Given the description of an element on the screen output the (x, y) to click on. 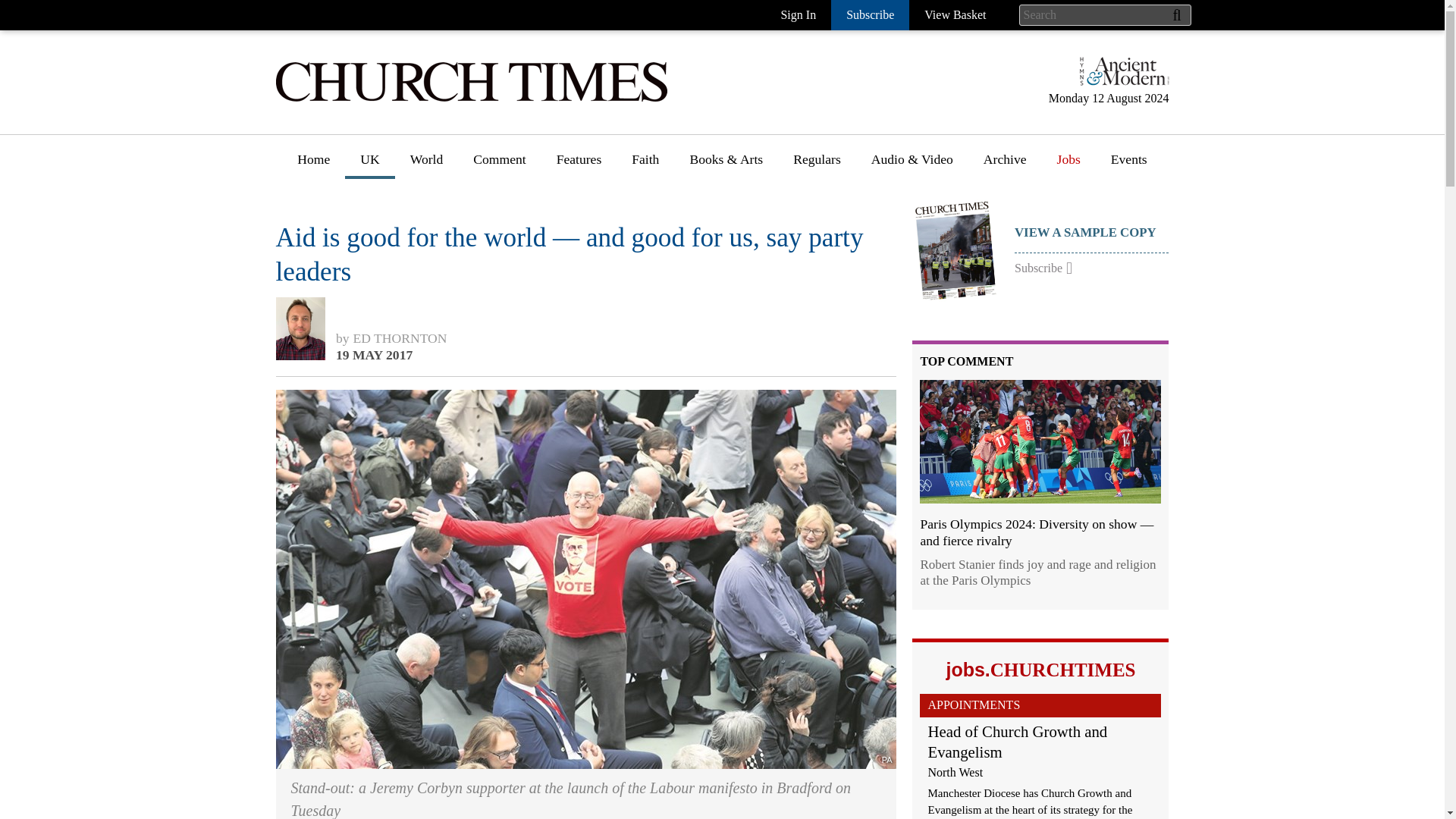
Interviews (585, 232)
Features (580, 204)
Visual arts (718, 287)
Radio (705, 428)
Performing arts (731, 343)
Regulars (816, 164)
Columnists (504, 260)
New titles (716, 232)
View Basket (954, 15)
Film (702, 371)
